Given the description of an element on the screen output the (x, y) to click on. 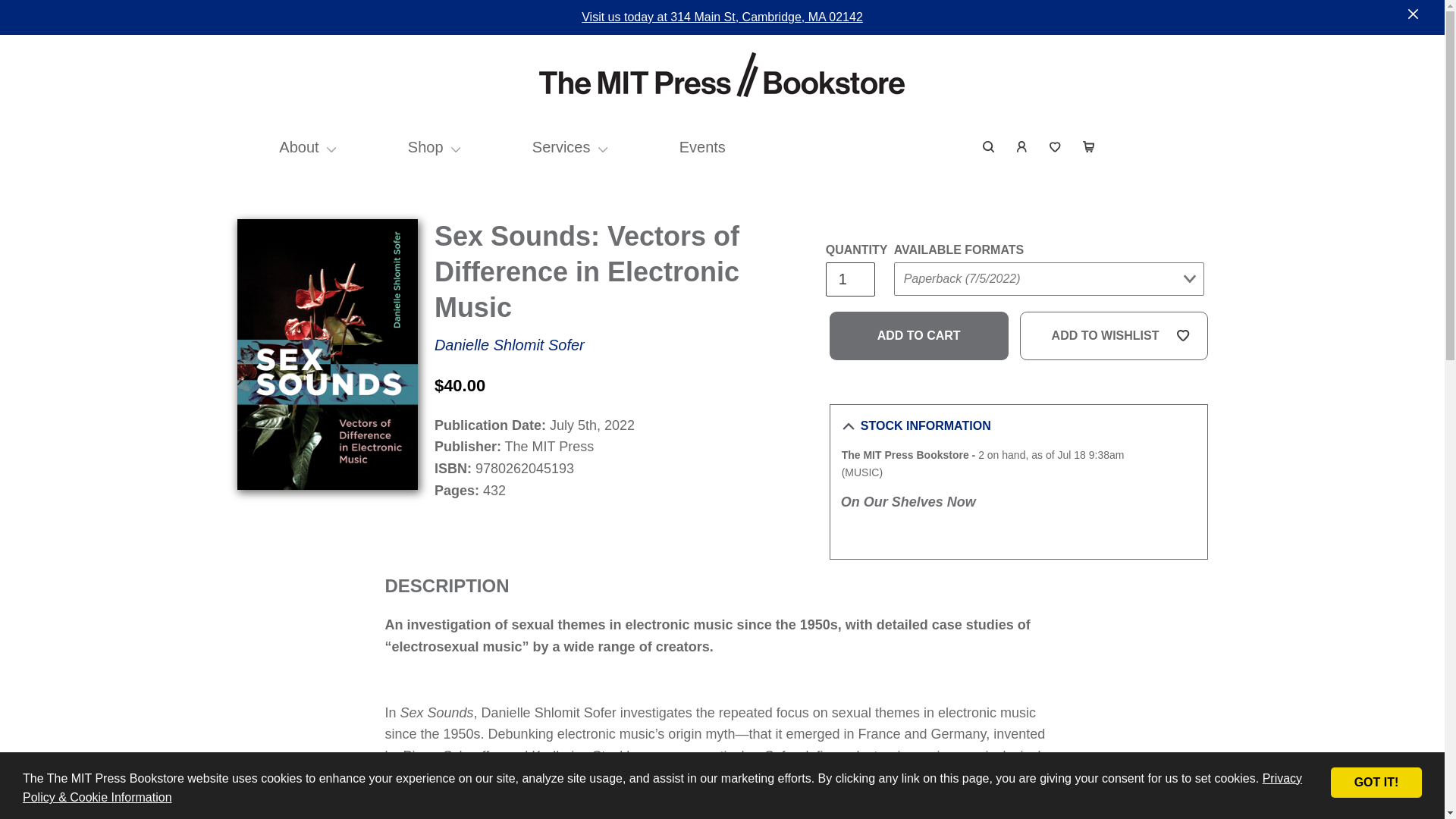
Add to cart (919, 336)
Link to mit press bookstore events listing (702, 146)
Submit (1169, 135)
Danielle Shlomit Sofer (509, 344)
1 (850, 279)
Log in (1022, 146)
Visit us today at 314 Main St, Cambridge, MA 02142 (721, 16)
SEARCH (989, 146)
ADD TO WISHLIST (1114, 336)
Search (989, 146)
Submit (922, 308)
Wishlists (1055, 146)
Log in (1022, 146)
Add to cart (919, 336)
